Given the description of an element on the screen output the (x, y) to click on. 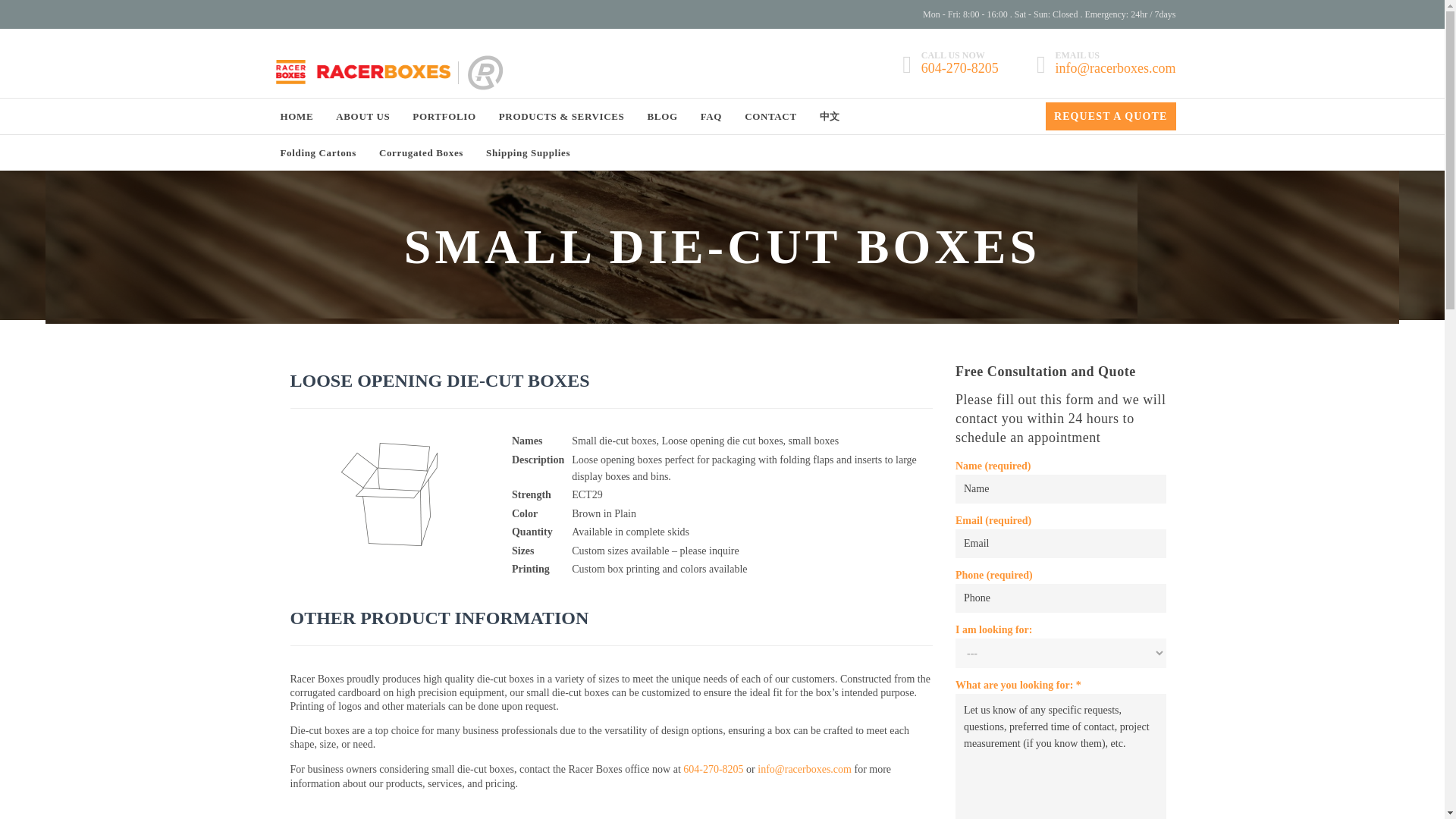
604-270-8205 (959, 69)
REQUEST A QUOTE (1110, 115)
Corrugated Boxes (420, 153)
Folding Cartons (318, 153)
HOME (297, 117)
ABOUT US (363, 117)
Shipping Supplies (528, 153)
CONTACT (770, 117)
604-270-8205 (712, 768)
PORTFOLIO (444, 117)
BLOG (662, 117)
